Given the description of an element on the screen output the (x, y) to click on. 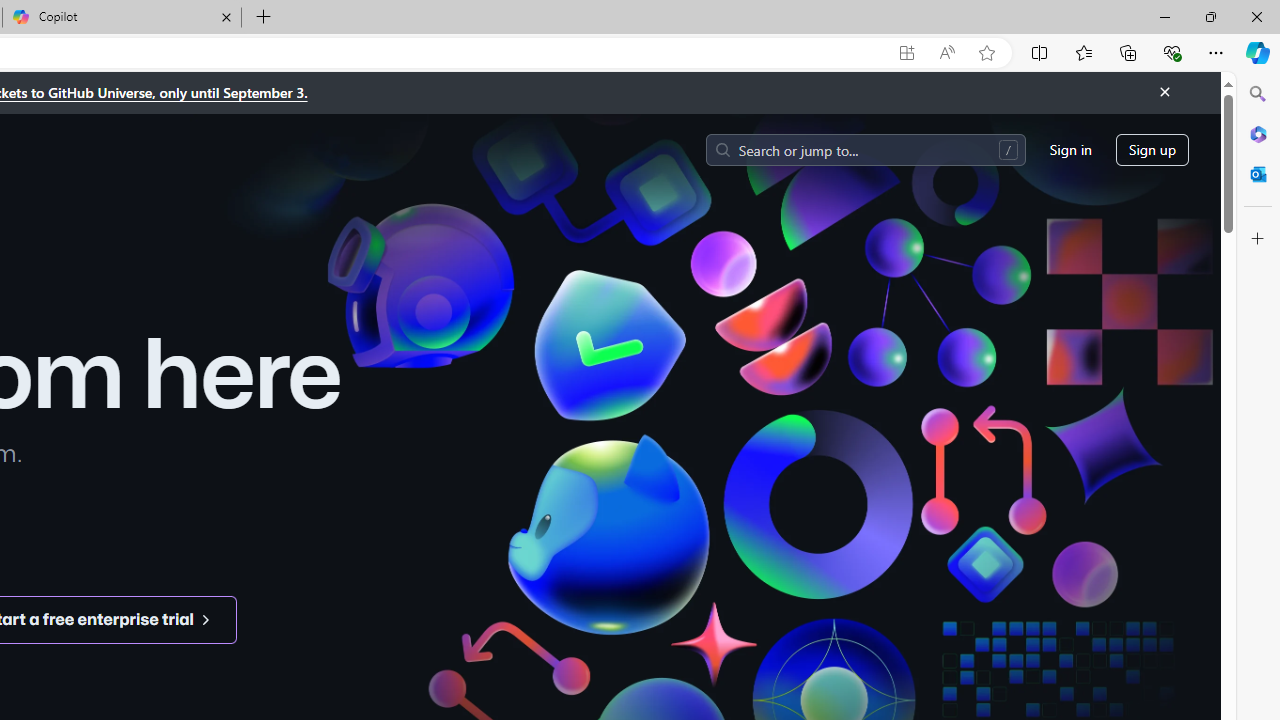
Sign up (1152, 149)
App available. Install GitHub (906, 53)
